Given the description of an element on the screen output the (x, y) to click on. 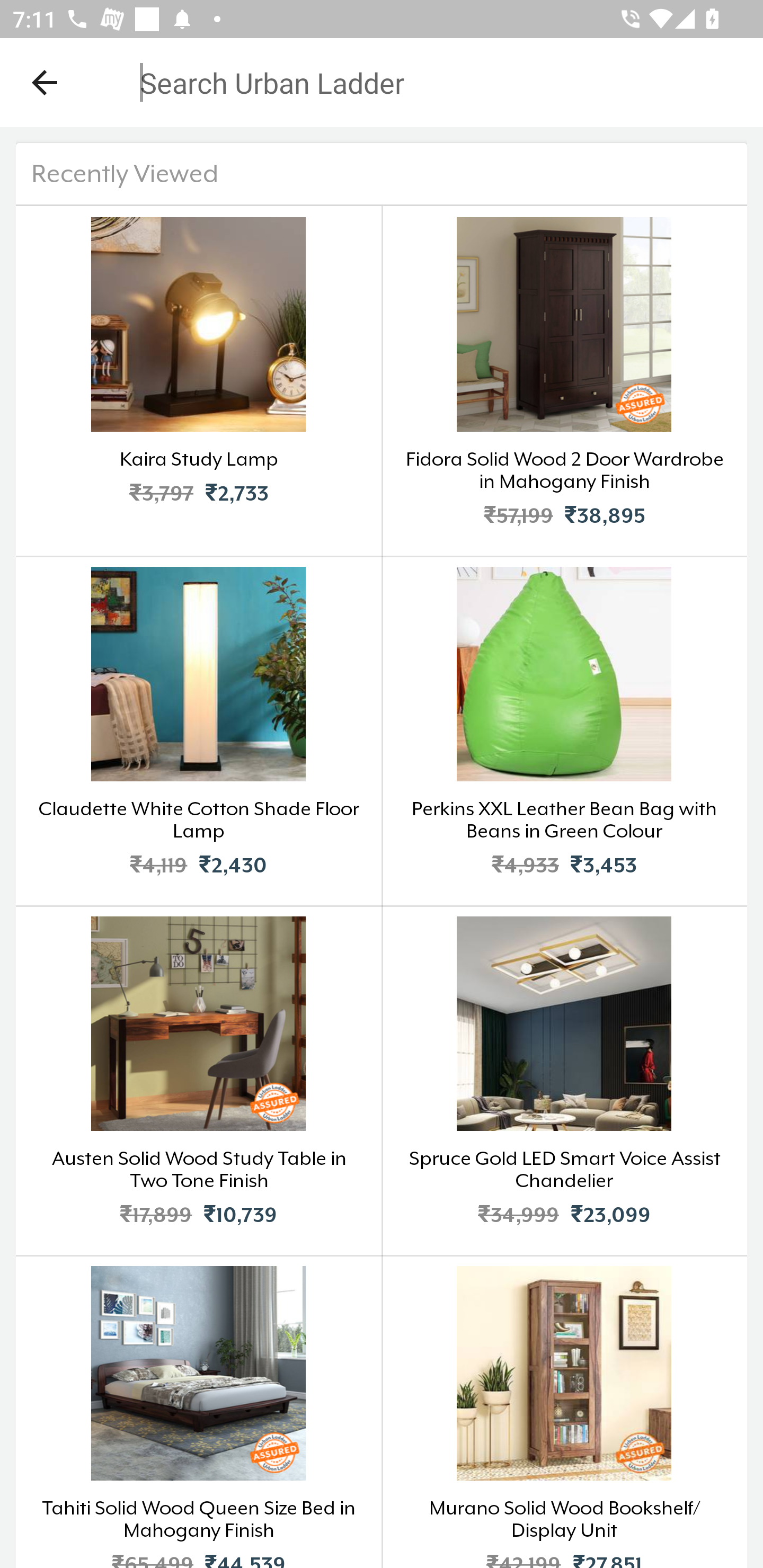
Collapse (44, 82)
Search Urban Ladder (368, 82)
405+ options Kids Beds Starting from  ₹2,939 (191, 318)
145+ options Kids Tables Starting from  ₹4,851 (570, 318)
41+ options Bunk Beds Starting from  ₹19,959 (191, 694)
68+ options Kids Seating Starting from  ₹293 (570, 694)
